Given the description of an element on the screen output the (x, y) to click on. 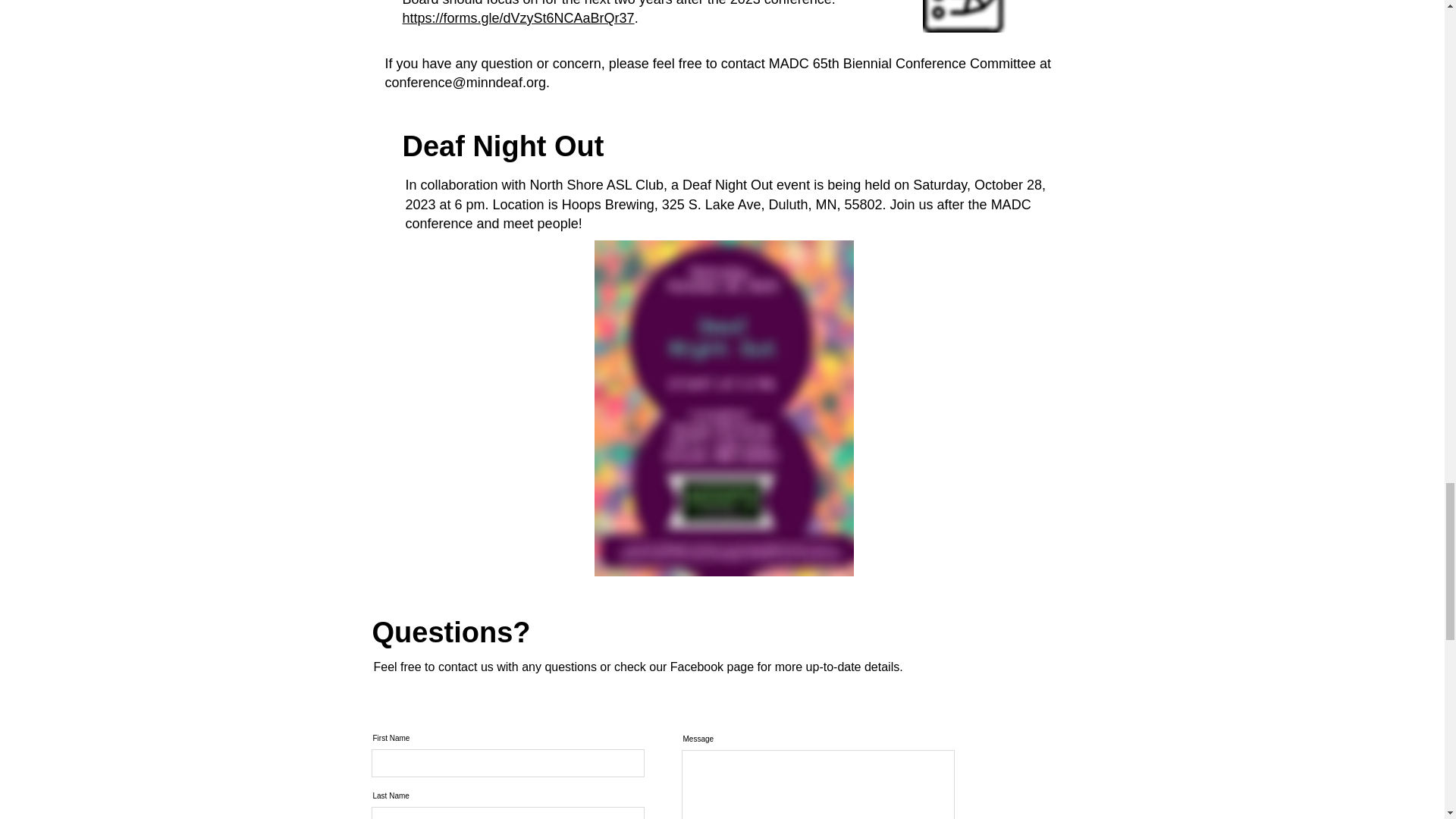
Clipboard-Checklist-Transparent-Backgrou (975, 16)
